Given the description of an element on the screen output the (x, y) to click on. 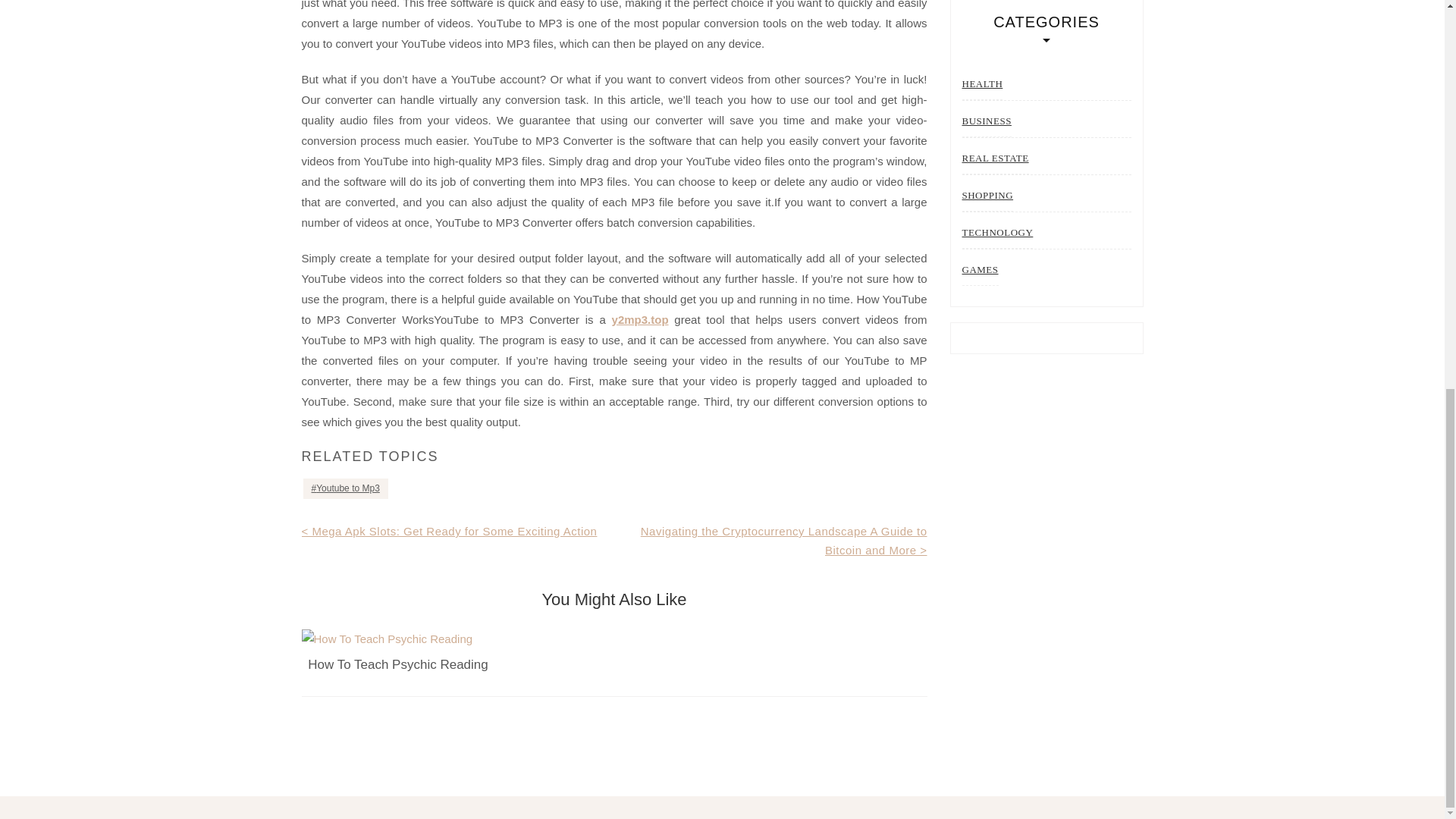
GAMES (978, 269)
HEALTH (981, 83)
BUSINESS (985, 120)
REAL ESTATE (993, 158)
SHOPPING (986, 194)
y2mp3.top (639, 318)
How To Teach Psychic Reading (397, 664)
Youtube to Mp3 (345, 488)
TECHNOLOGY (996, 232)
